Given the description of an element on the screen output the (x, y) to click on. 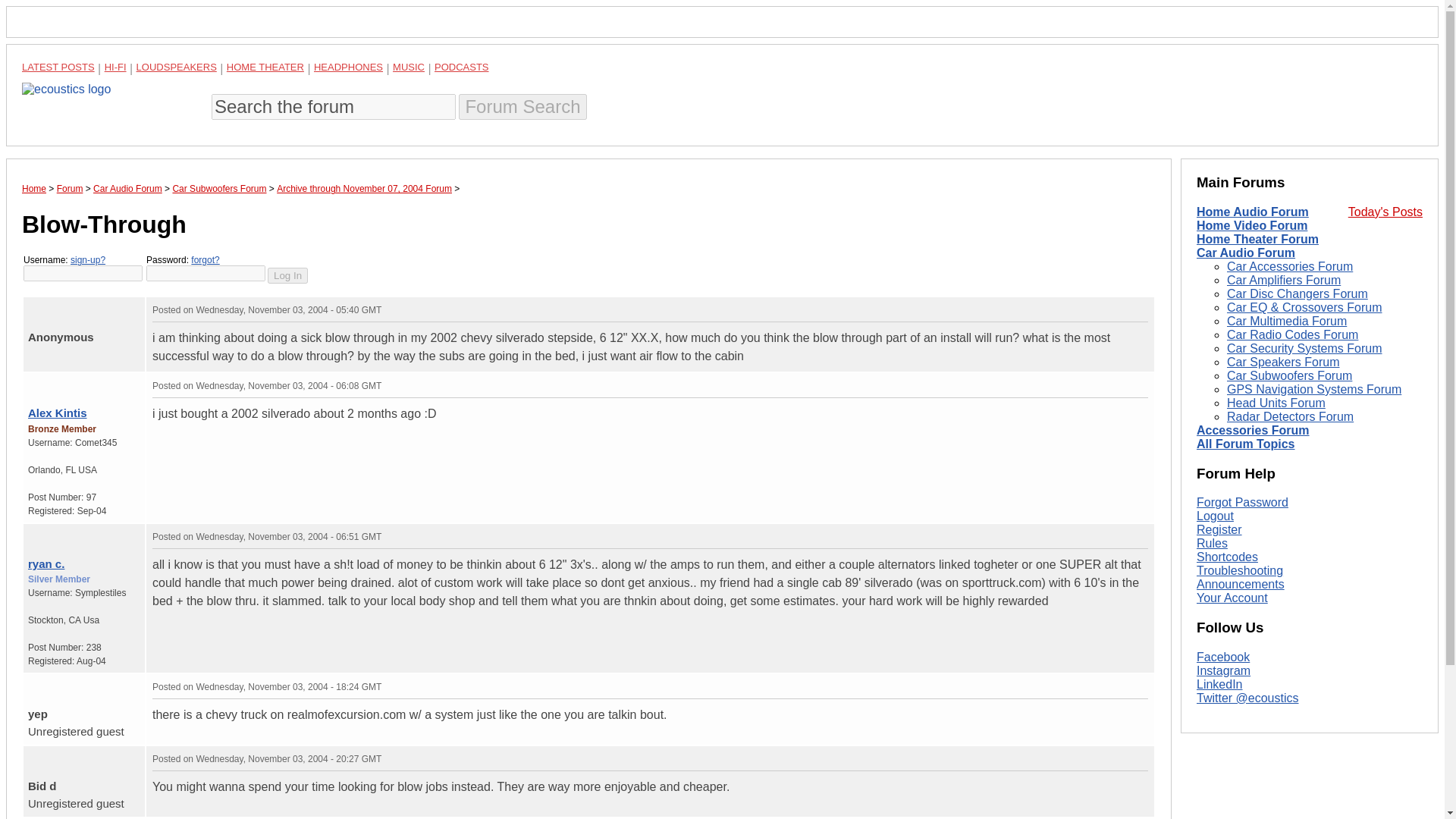
next post (41, 307)
forgot? (204, 259)
MUSIC (409, 66)
last post (50, 307)
link to this post (76, 533)
sign-up? (86, 259)
Search (522, 106)
link to this post (68, 307)
previous post (41, 382)
top of page (32, 533)
